Given the description of an element on the screen output the (x, y) to click on. 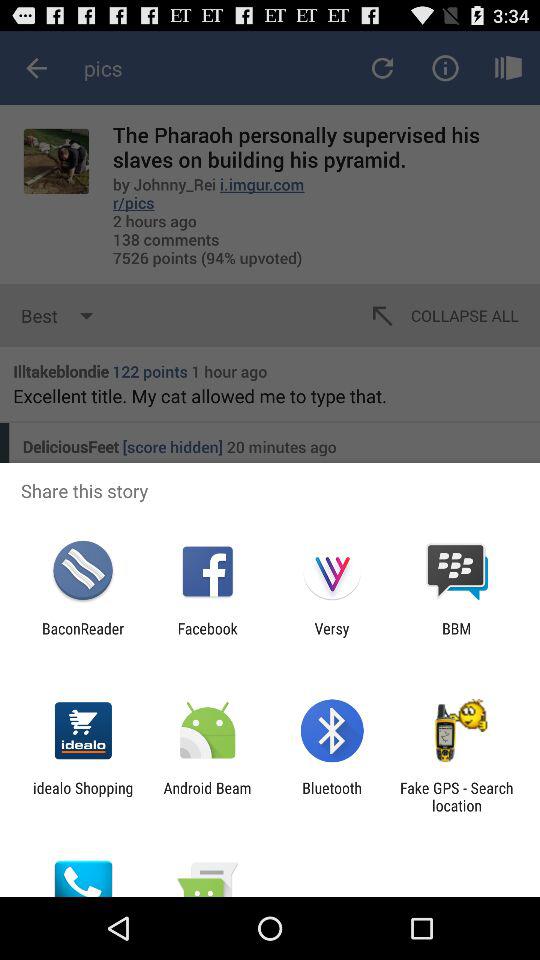
tap icon next to facebook item (331, 637)
